Given the description of an element on the screen output the (x, y) to click on. 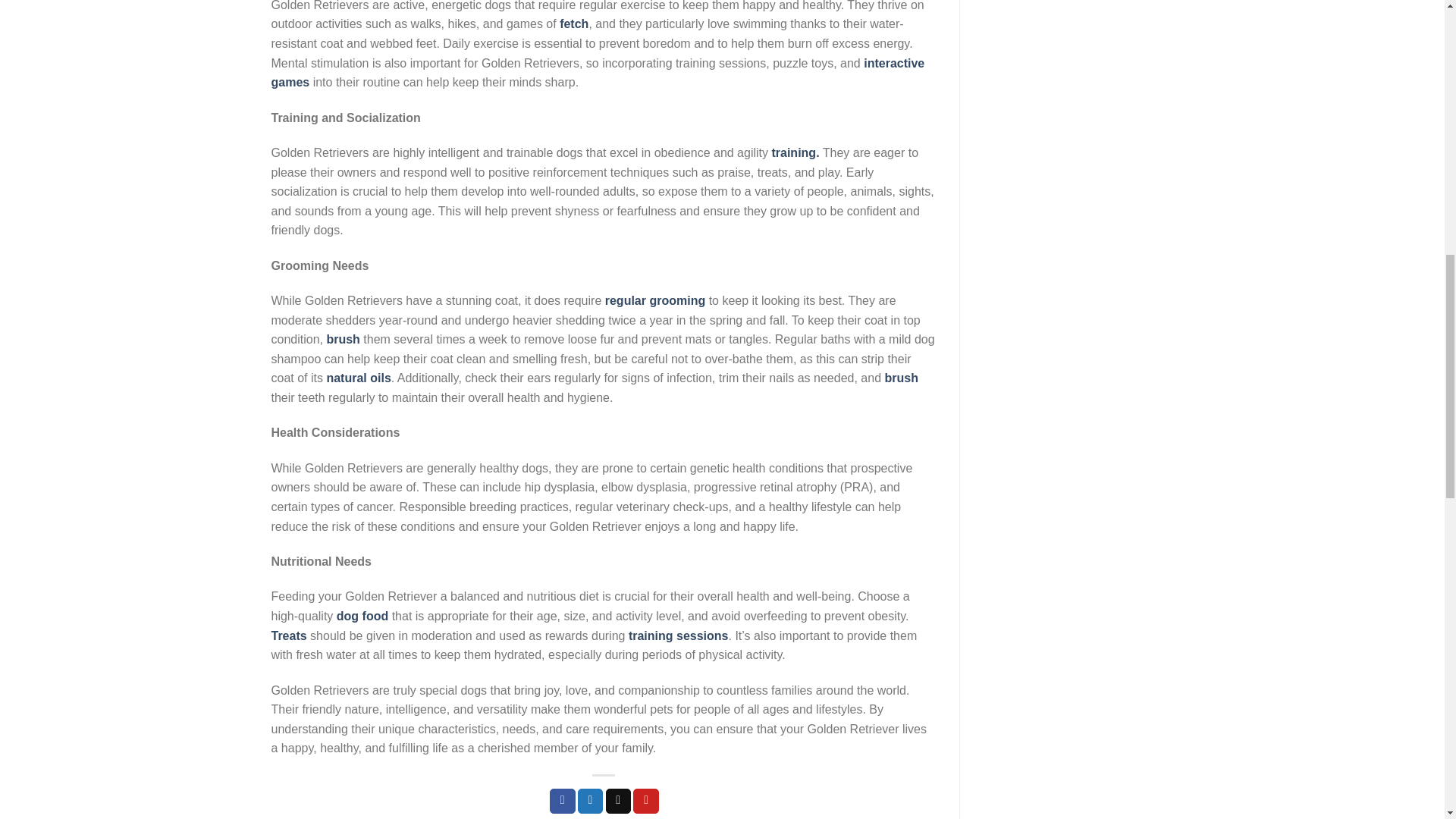
Pin on Pinterest (646, 801)
Email to a Friend (618, 801)
Share on Facebook (562, 801)
Share on Twitter (591, 801)
